Given the description of an element on the screen output the (x, y) to click on. 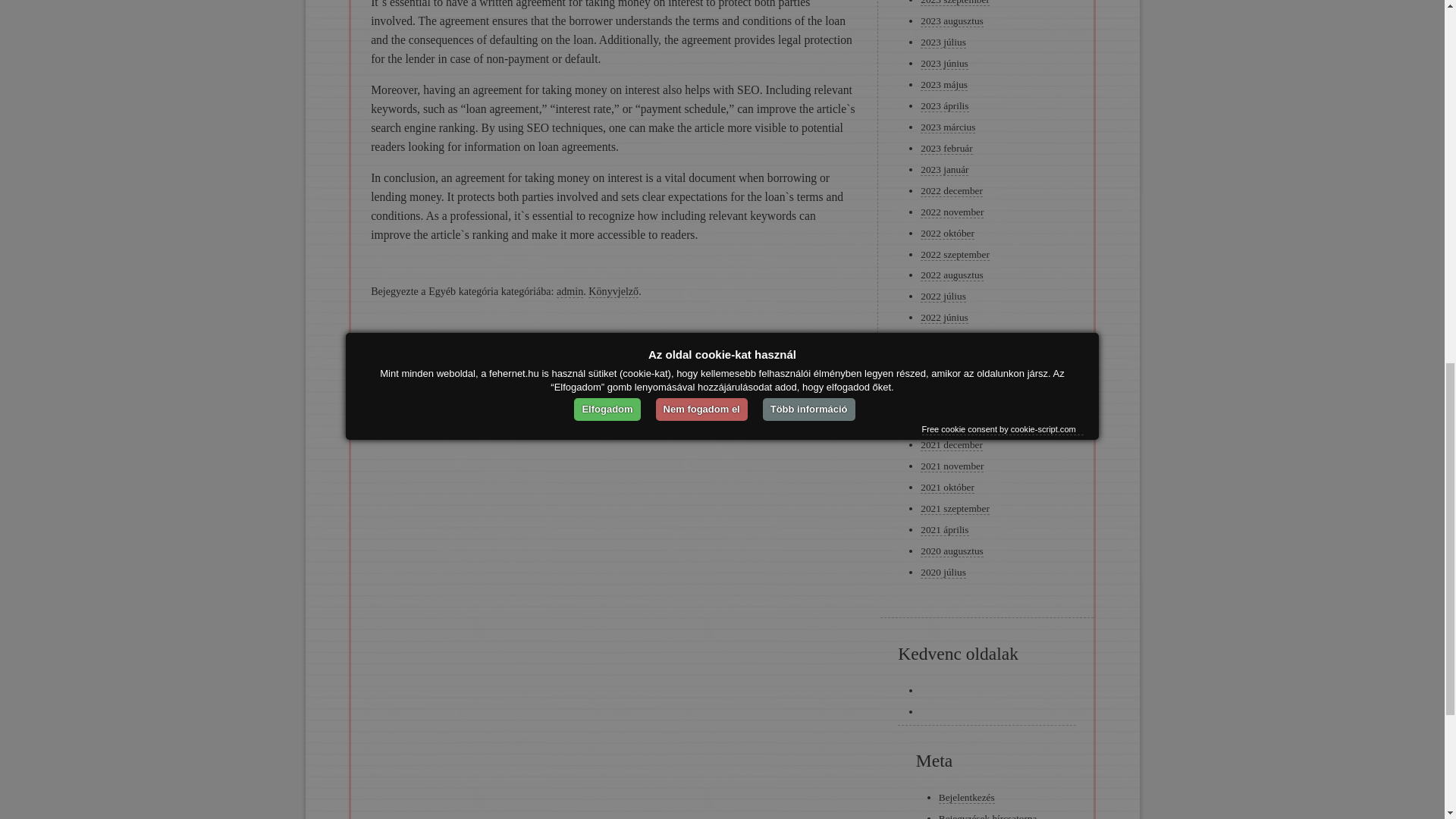
2022 december (951, 191)
2022 augusztus (951, 275)
2023 augusztus (951, 21)
2023 szeptember (955, 2)
2022 szeptember (955, 254)
2021 szeptember (955, 508)
admin (569, 291)
2021 november (952, 466)
2022 november (952, 212)
2021 december (951, 444)
